Given the description of an element on the screen output the (x, y) to click on. 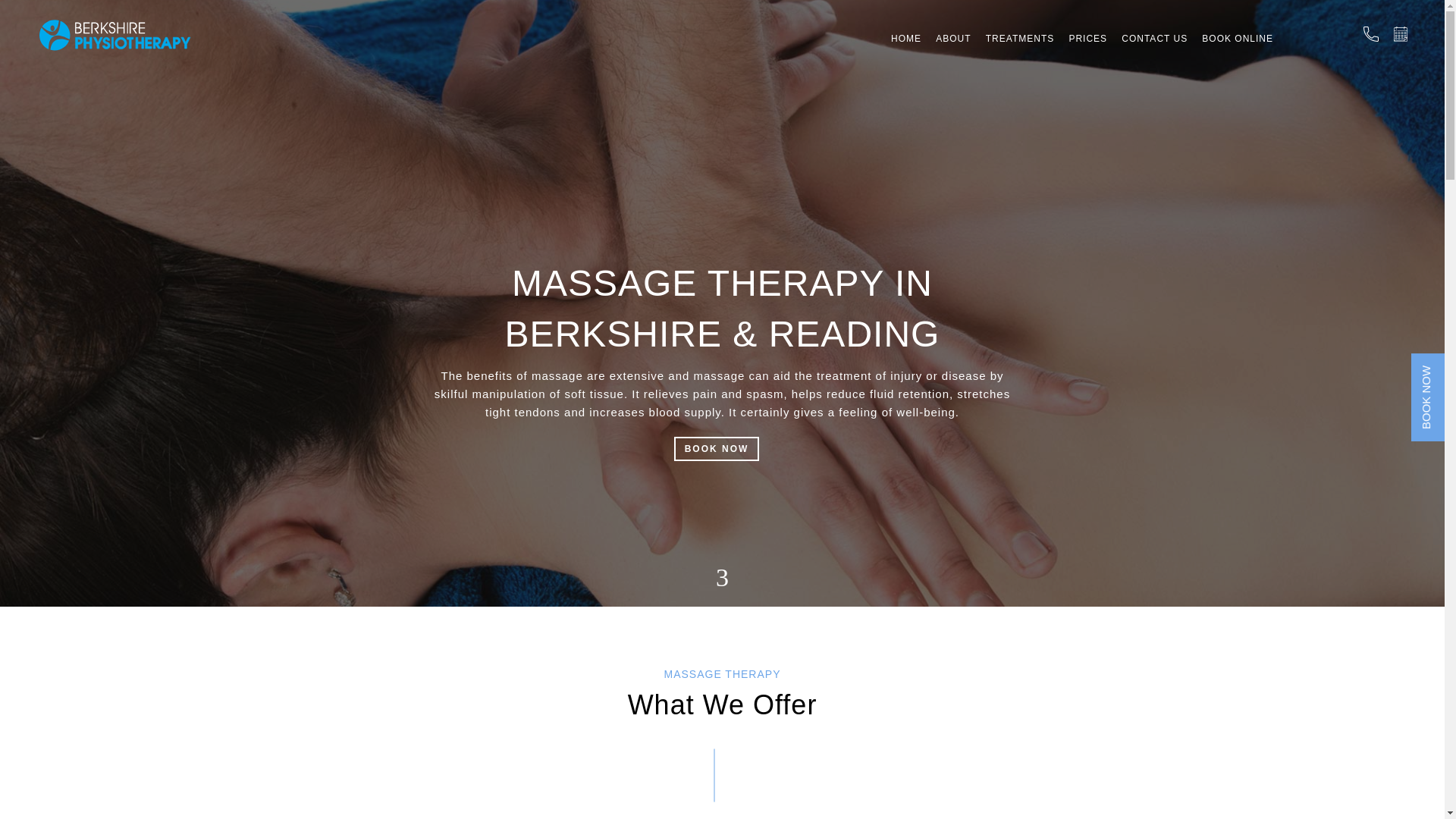
TREATMENTS (1019, 51)
ABOUT (953, 51)
BOOK ONLINE (1237, 51)
PRICES (1087, 51)
CONTACT US (1154, 51)
